Given the description of an element on the screen output the (x, y) to click on. 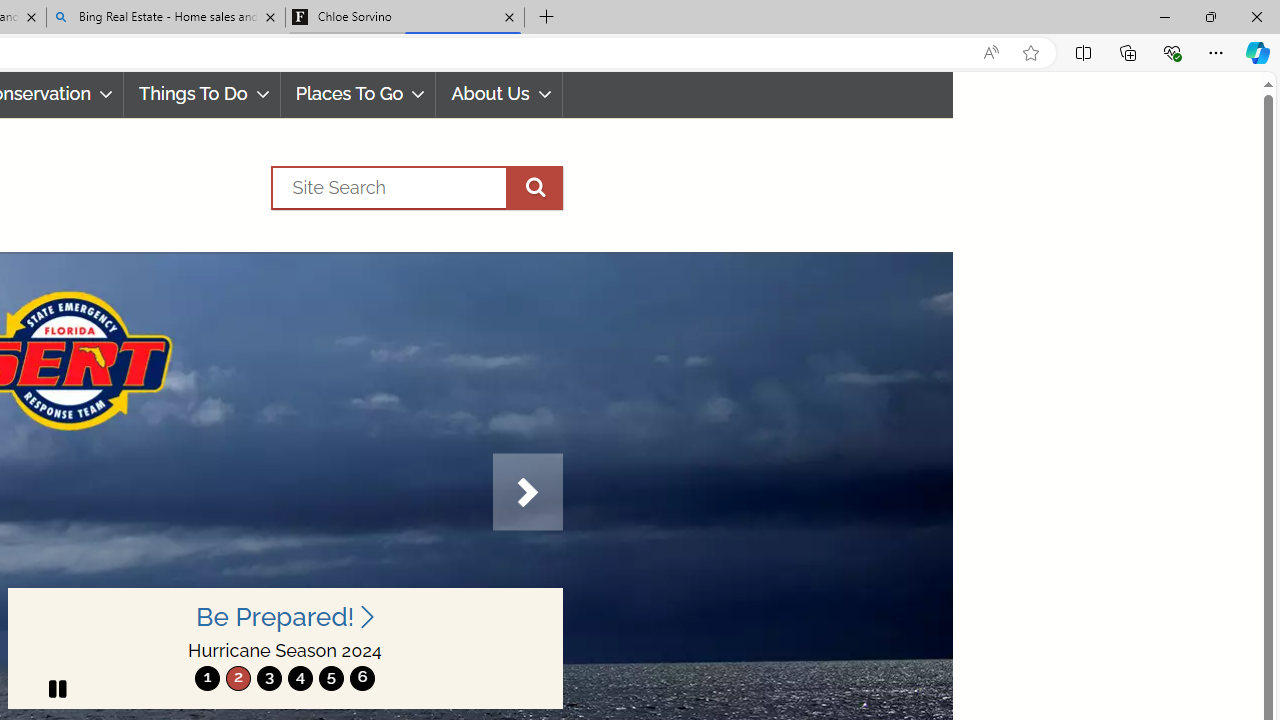
Places To Go (358, 94)
3 (269, 678)
4 (300, 678)
Be Prepared!  (284, 616)
2 (238, 678)
About Us (499, 94)
Things To Do (202, 94)
Bing Real Estate - Home sales and rental listings (166, 17)
move to slide 2 (238, 678)
